Given the description of an element on the screen output the (x, y) to click on. 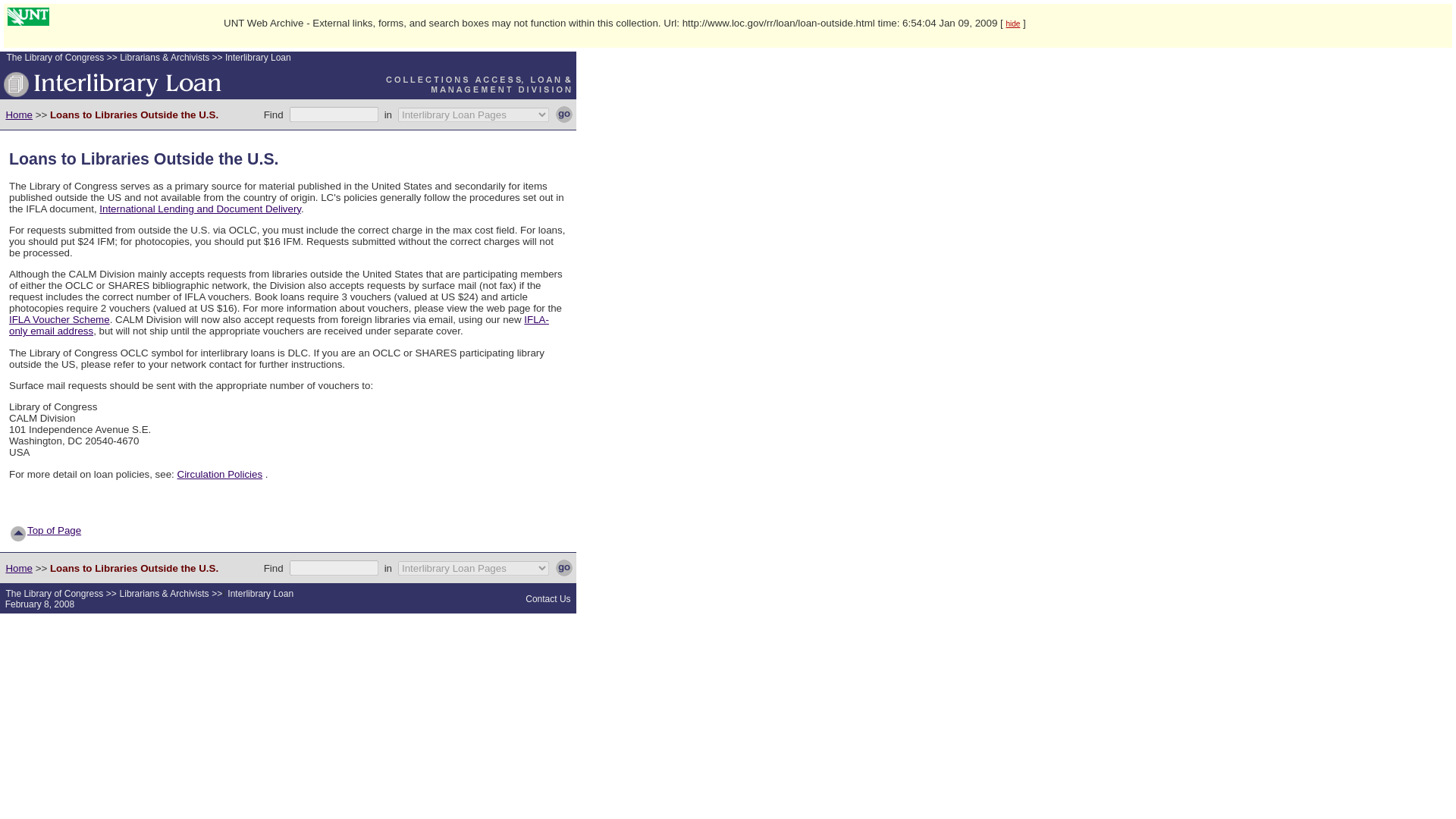
Contact Us (547, 598)
hide (1013, 23)
Circulation Policies (220, 473)
The Library of Congress (54, 57)
Interlibrary Loan (256, 57)
The Library of Congress (54, 593)
IFLA Voucher Scheme (59, 319)
Top of Page (54, 530)
IFLA-only email address (278, 324)
Home (18, 114)
